Given the description of an element on the screen output the (x, y) to click on. 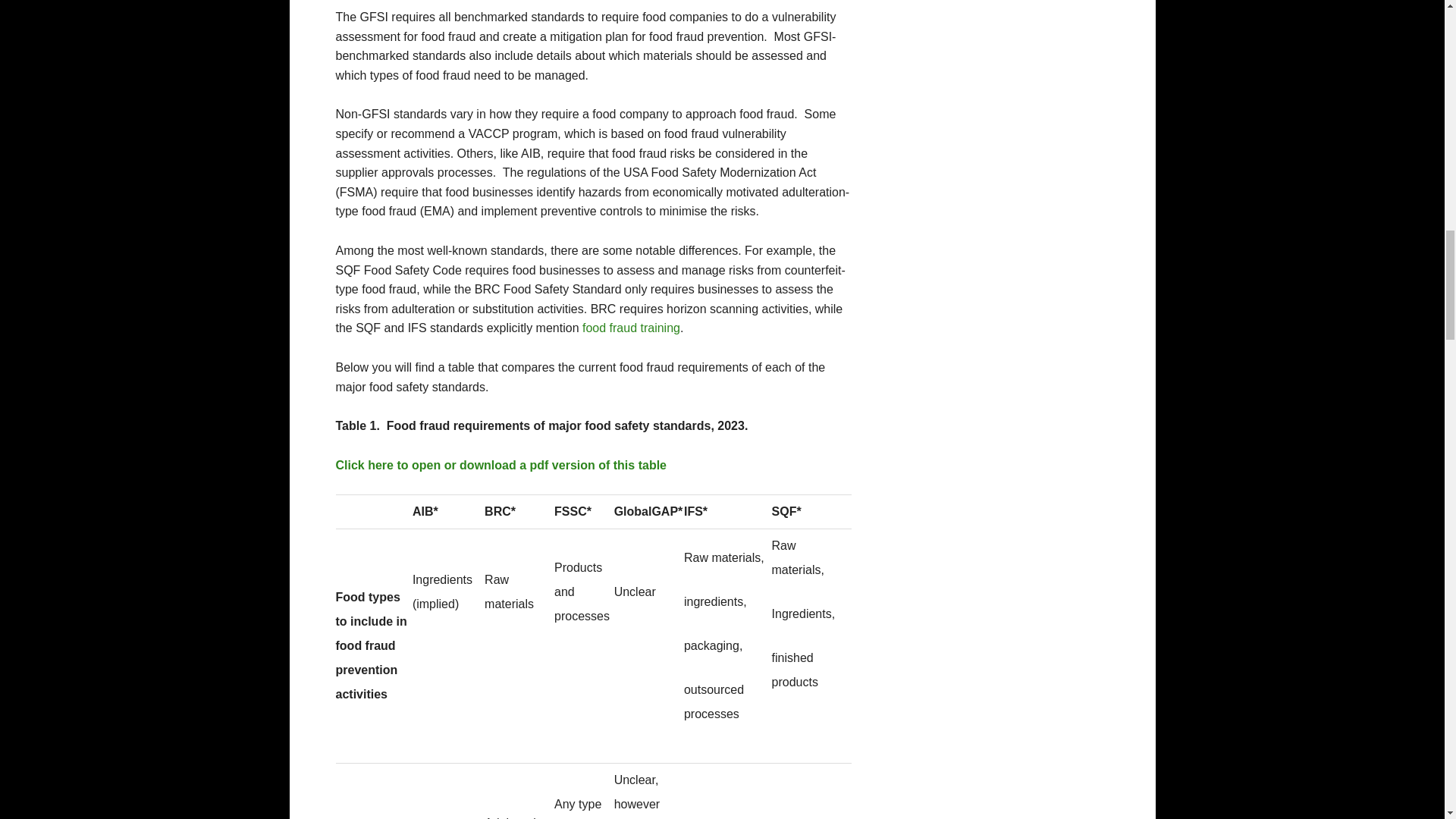
Click here to open or download a pdf version of this table (500, 464)
food fraud training (630, 327)
